Given the description of an element on the screen output the (x, y) to click on. 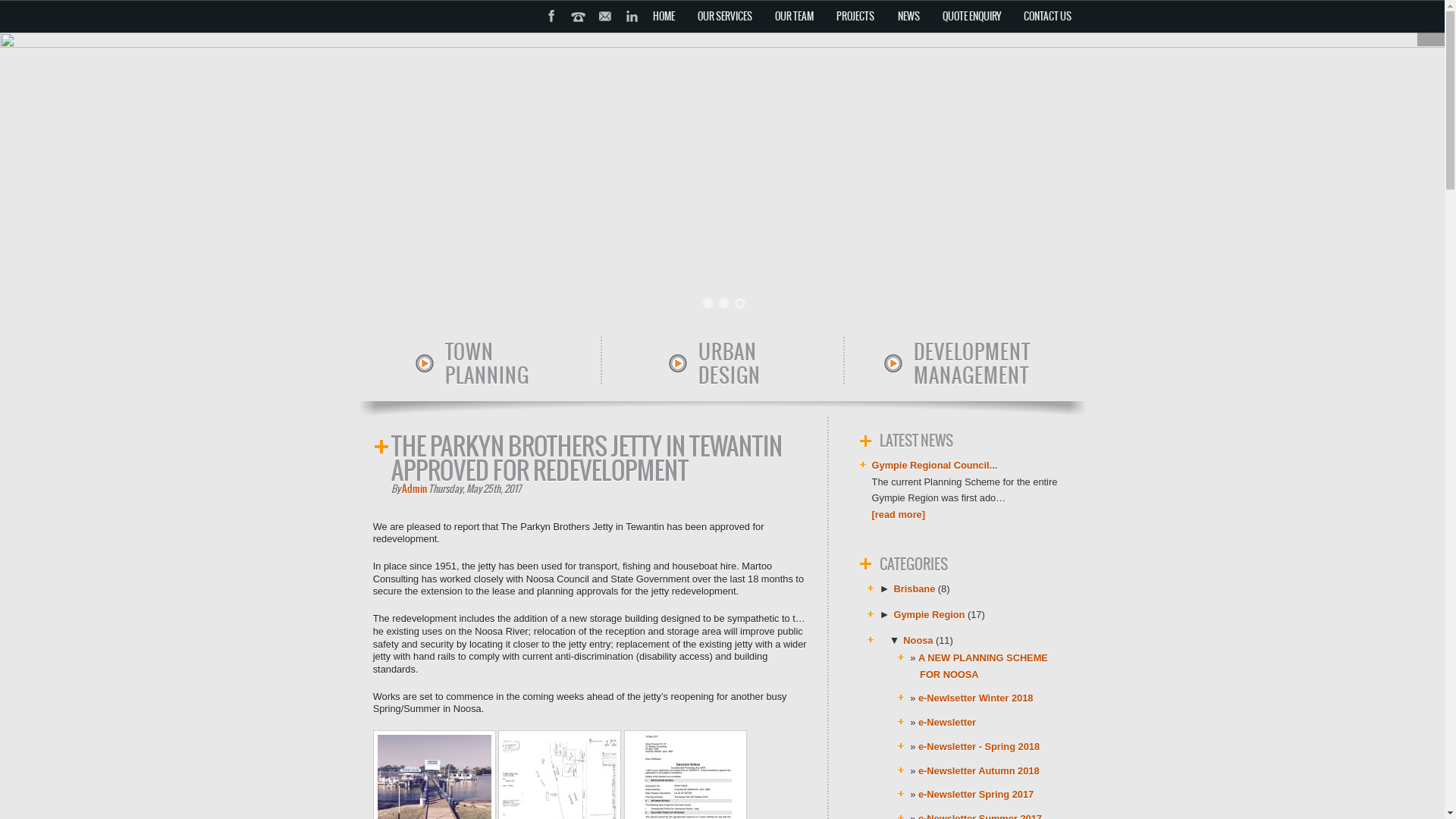
3 Element type: text (739, 303)
Noosa Element type: text (917, 640)
DEVELOPMENT
MANAGEMENT Element type: text (963, 363)
Gympie Regional Council... Element type: text (934, 464)
QUOTE ENQUIRY Element type: text (970, 16)
Admin Element type: text (413, 488)
L Element type: text (635, 35)
P Element type: text (582, 35)
e-Newsletter Spring 2017 Element type: text (975, 794)
e-Newsletter - Spring 2018 Element type: text (978, 746)
PROJECTS Element type: text (854, 16)
e-Newsletter Element type: text (946, 722)
1 Element type: text (707, 303)
A NEW PLANNING SCHEME FOR NOOSA Element type: text (983, 666)
Brisbane Element type: text (914, 588)
TOWN
PLANNING Element type: text (479, 363)
HOME Element type: text (663, 16)
OUR SERVICES Element type: text (724, 16)
e-Newsletter Autumn 2018 Element type: text (978, 770)
NEWS Element type: text (907, 16)
Gympie Region Element type: text (929, 614)
M Element type: text (609, 35)
OUR TEAM Element type: text (794, 16)
URBAN
DESIGN Element type: text (721, 363)
CONTACT US Element type: text (1046, 16)
e-Newlsetter Winter 2018 Element type: text (975, 697)
[read more] Element type: text (898, 514)
2 Element type: text (723, 303)
F Element type: text (556, 35)
